Given the description of an element on the screen output the (x, y) to click on. 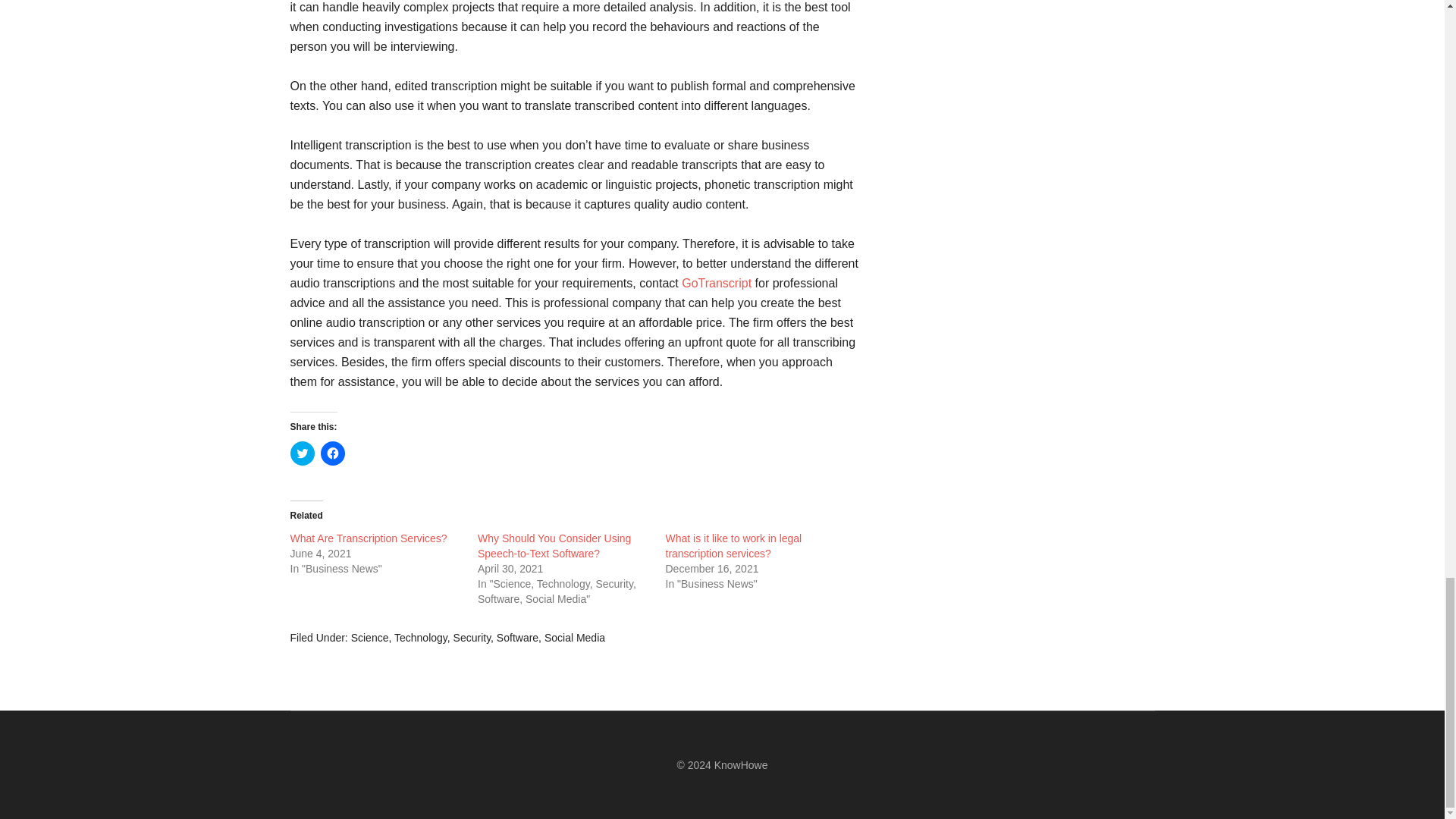
Click to share on Facebook (331, 453)
GoTranscript (716, 282)
What Are Transcription Services? (367, 538)
What is it like to work in legal transcription services? (733, 545)
What Are Transcription Services? (367, 538)
KnowHowe (741, 764)
Why Should You Consider Using Speech-to-Text Software? (553, 545)
Science, Technology, Security, Software, Social Media (477, 637)
Why Should You Consider Using Speech-to-Text Software? (553, 545)
Click to share on Twitter (301, 453)
What is it like to work in legal transcription services? (733, 545)
